Given the description of an element on the screen output the (x, y) to click on. 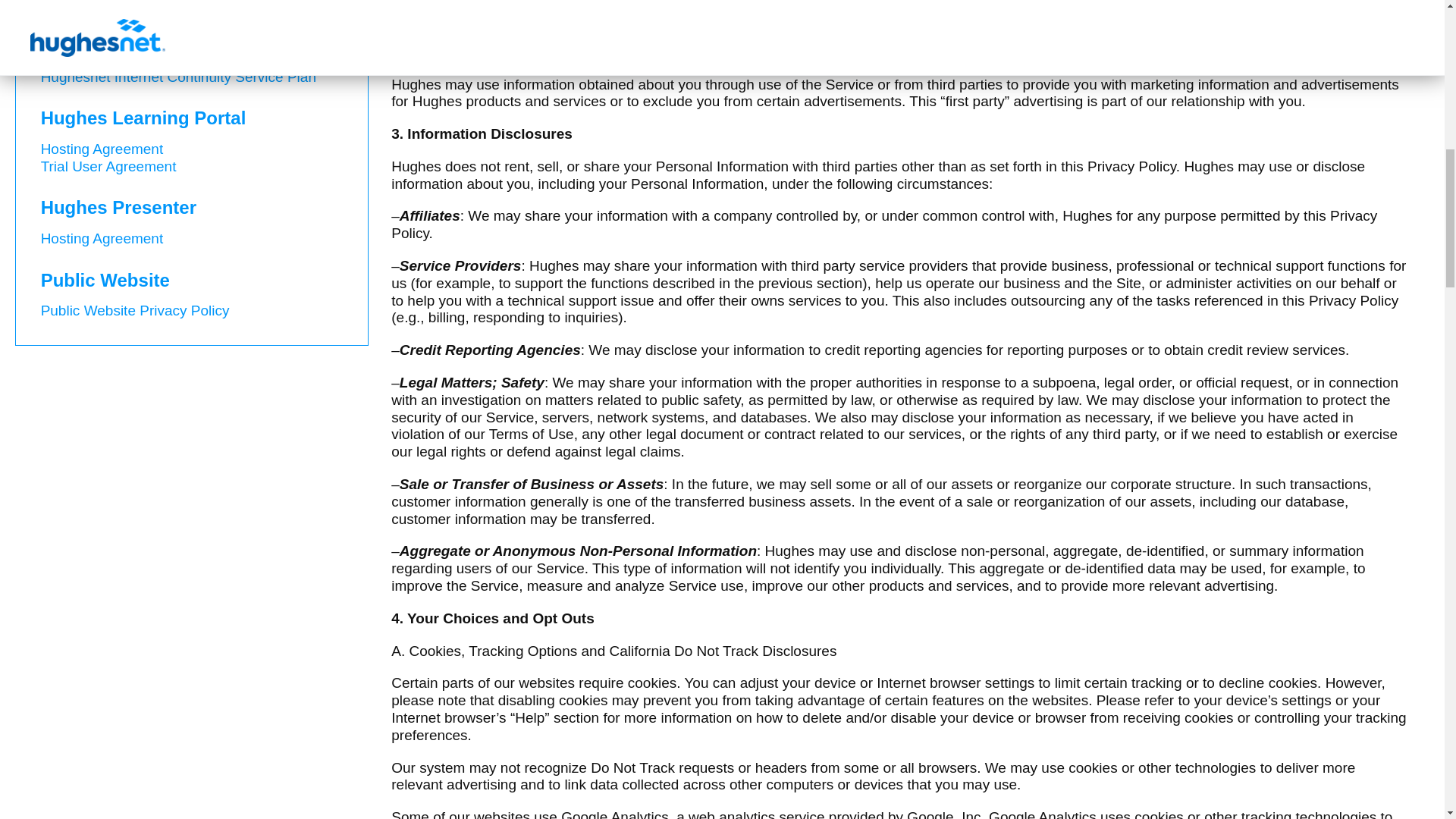
Hosting Agreement (101, 148)
Acceptable Use Policy (112, 41)
Installation Guidelines (111, 24)
Subscriber Privacy Policy (121, 7)
Public Website Privacy Policy (135, 310)
Trial User Agreement (108, 166)
Hosting Agreement (101, 238)
